Given the description of an element on the screen output the (x, y) to click on. 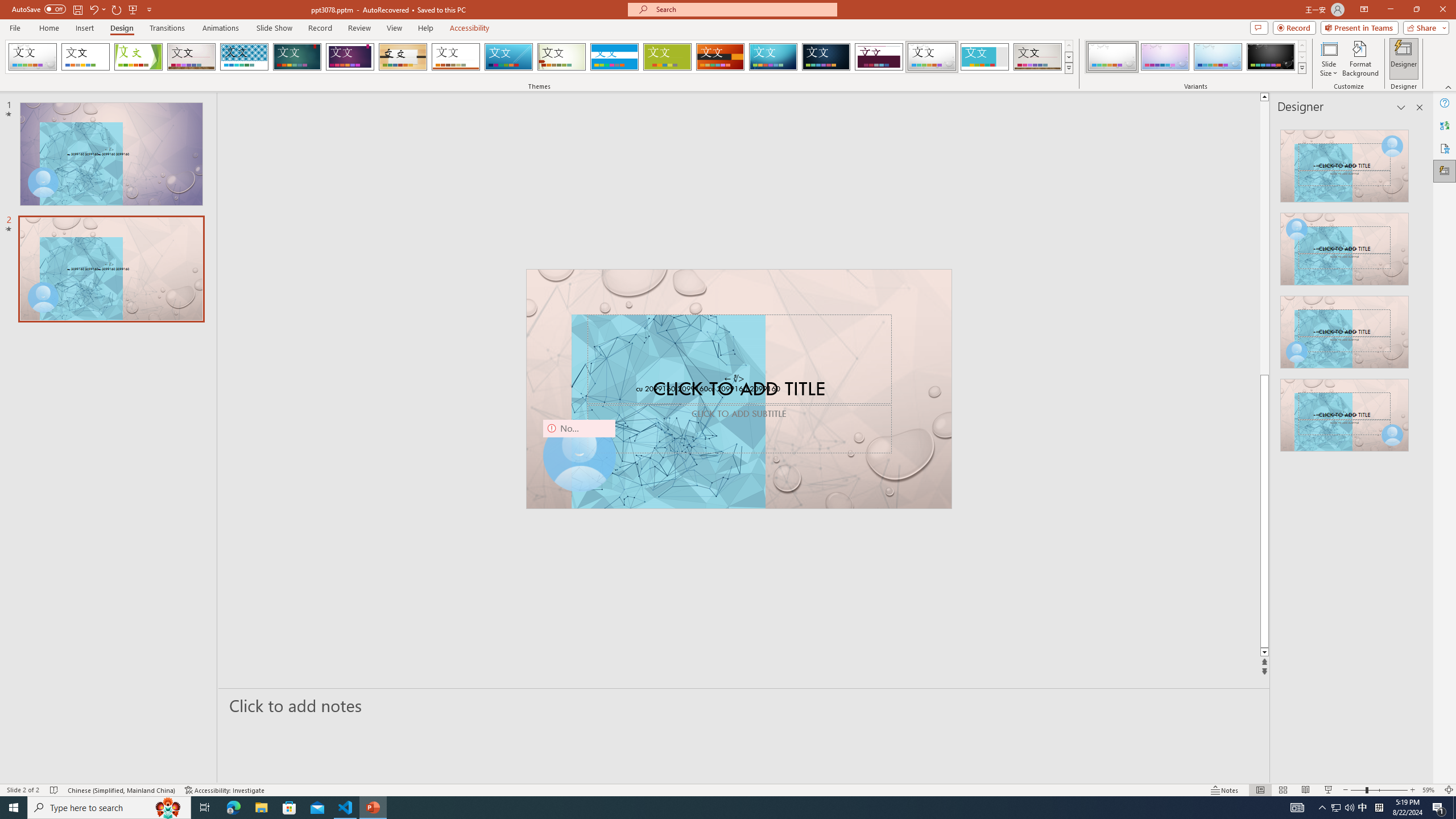
An abstract genetic concept (739, 388)
Ion (296, 56)
AutomationID: SlideThemesGallery (539, 56)
Dividend (879, 56)
Organic (403, 56)
TextBox 7 (734, 378)
